Given the description of an element on the screen output the (x, y) to click on. 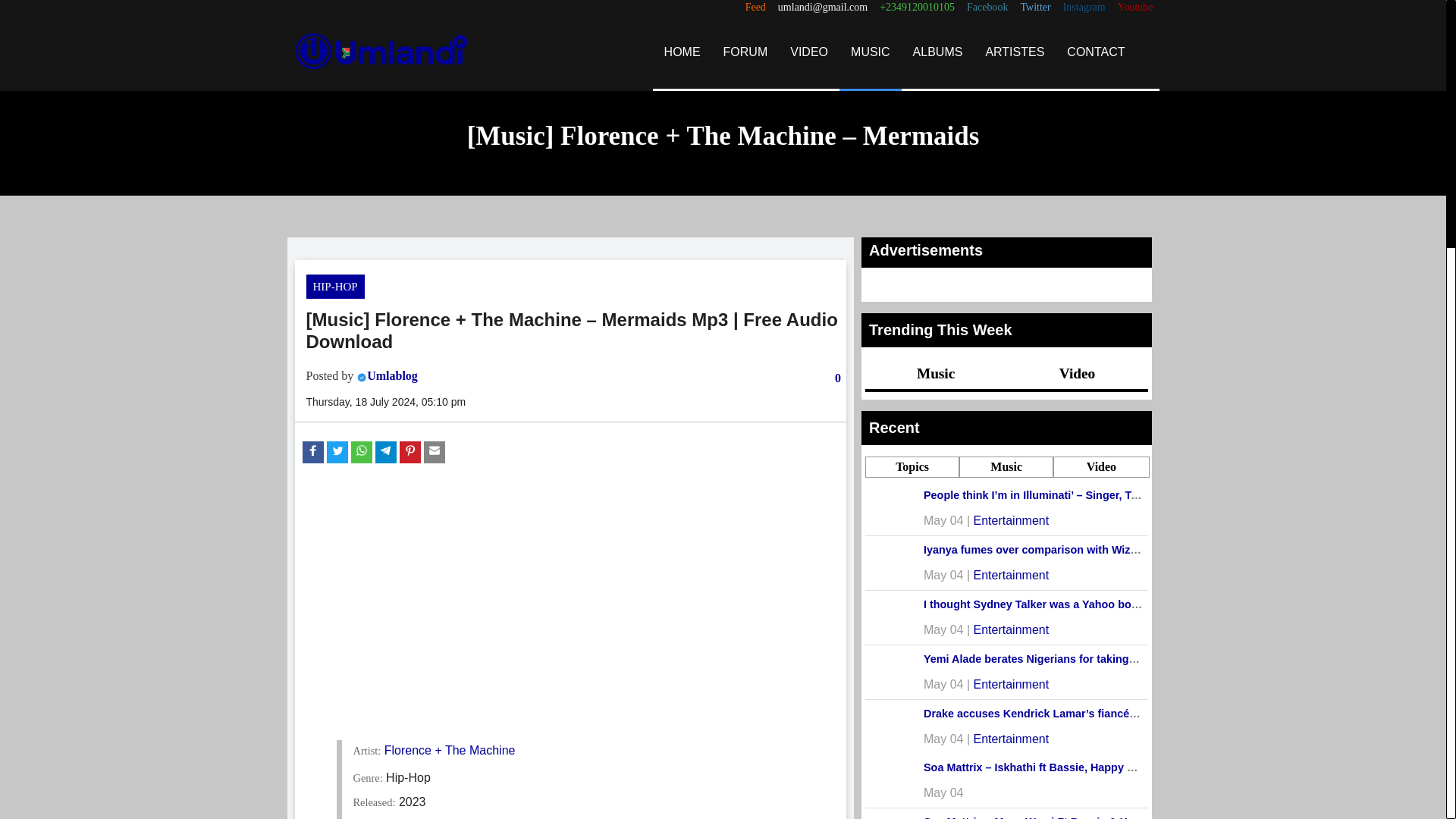
Entertainment (1011, 629)
Iyanya fumes over comparison with Wizkid (1034, 549)
Entertainment (1011, 738)
Facebook (986, 7)
Instagram (1083, 7)
CONTACT (1095, 51)
Entertainment (1011, 574)
HIP-HOP (335, 286)
Umlablog (391, 375)
Youtube (1135, 7)
Music (935, 373)
Entertainment (1011, 684)
ALBUMS (937, 51)
ARTISTES (1014, 51)
Feed (755, 7)
